Given the description of an element on the screen output the (x, y) to click on. 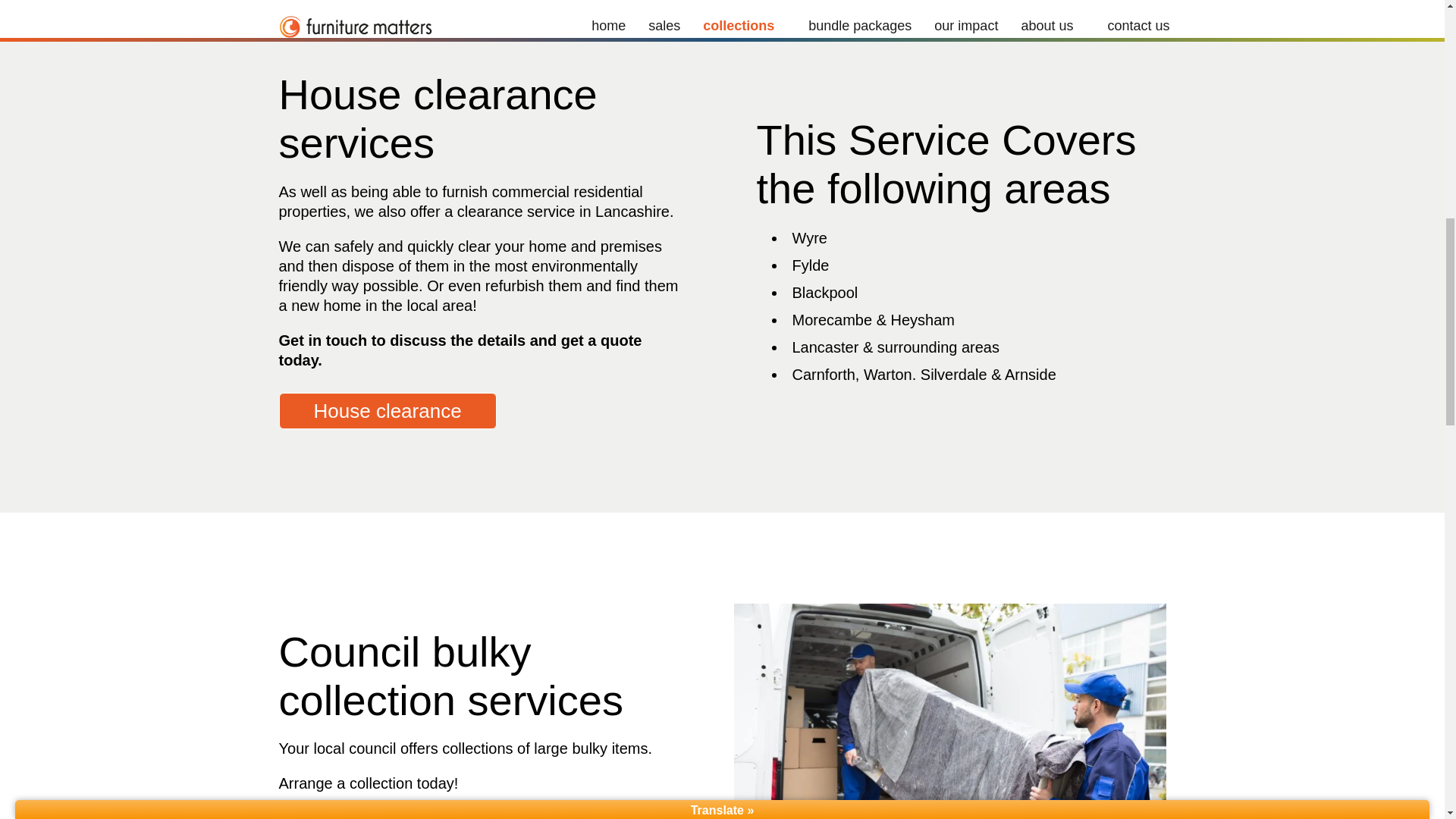
House clearance (387, 411)
Find out more (374, 817)
